Given the description of an element on the screen output the (x, y) to click on. 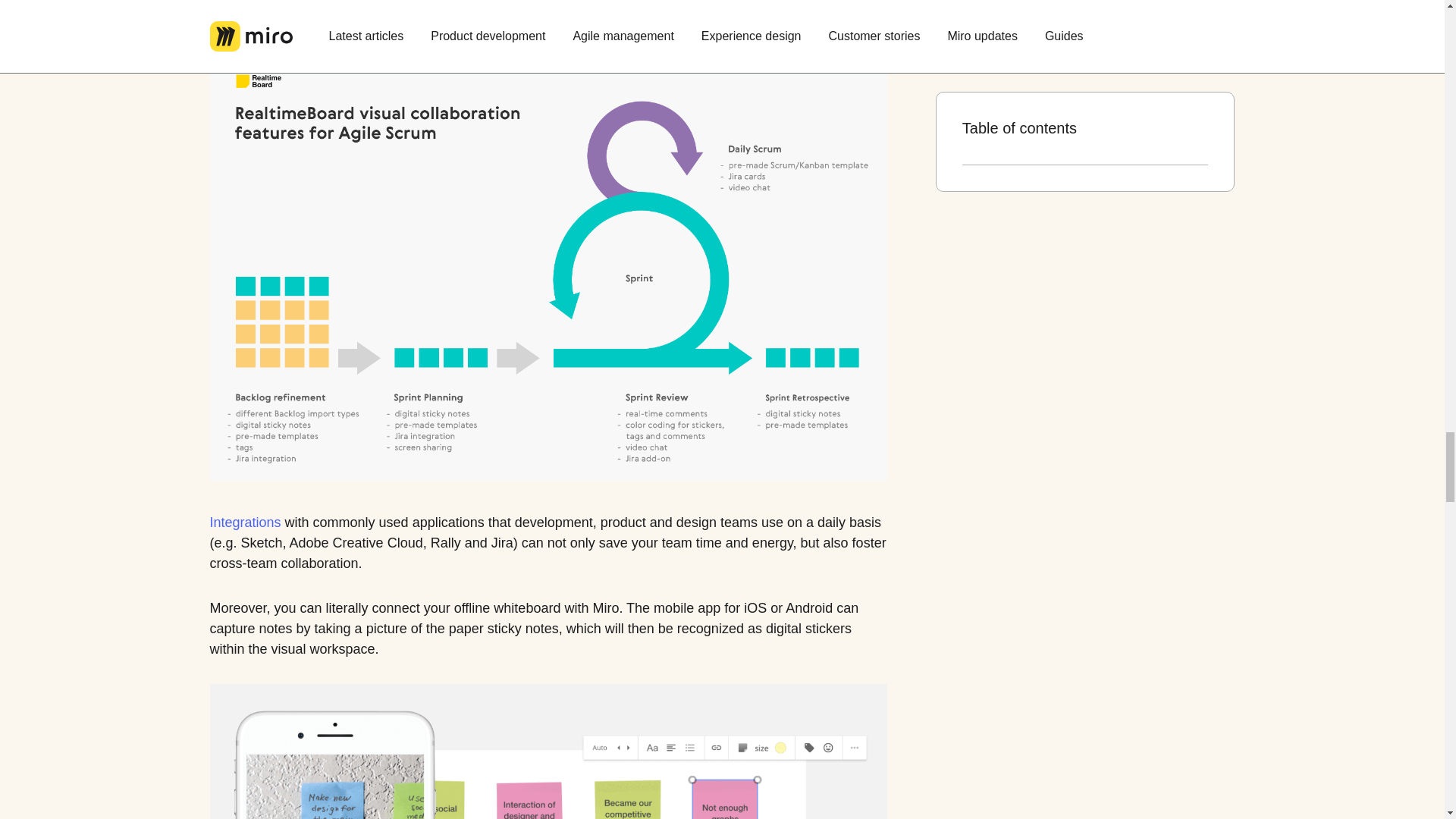
comments (437, 4)
Integrations (245, 522)
project files (326, 4)
emoji (686, 4)
video chats (796, 4)
